Given the description of an element on the screen output the (x, y) to click on. 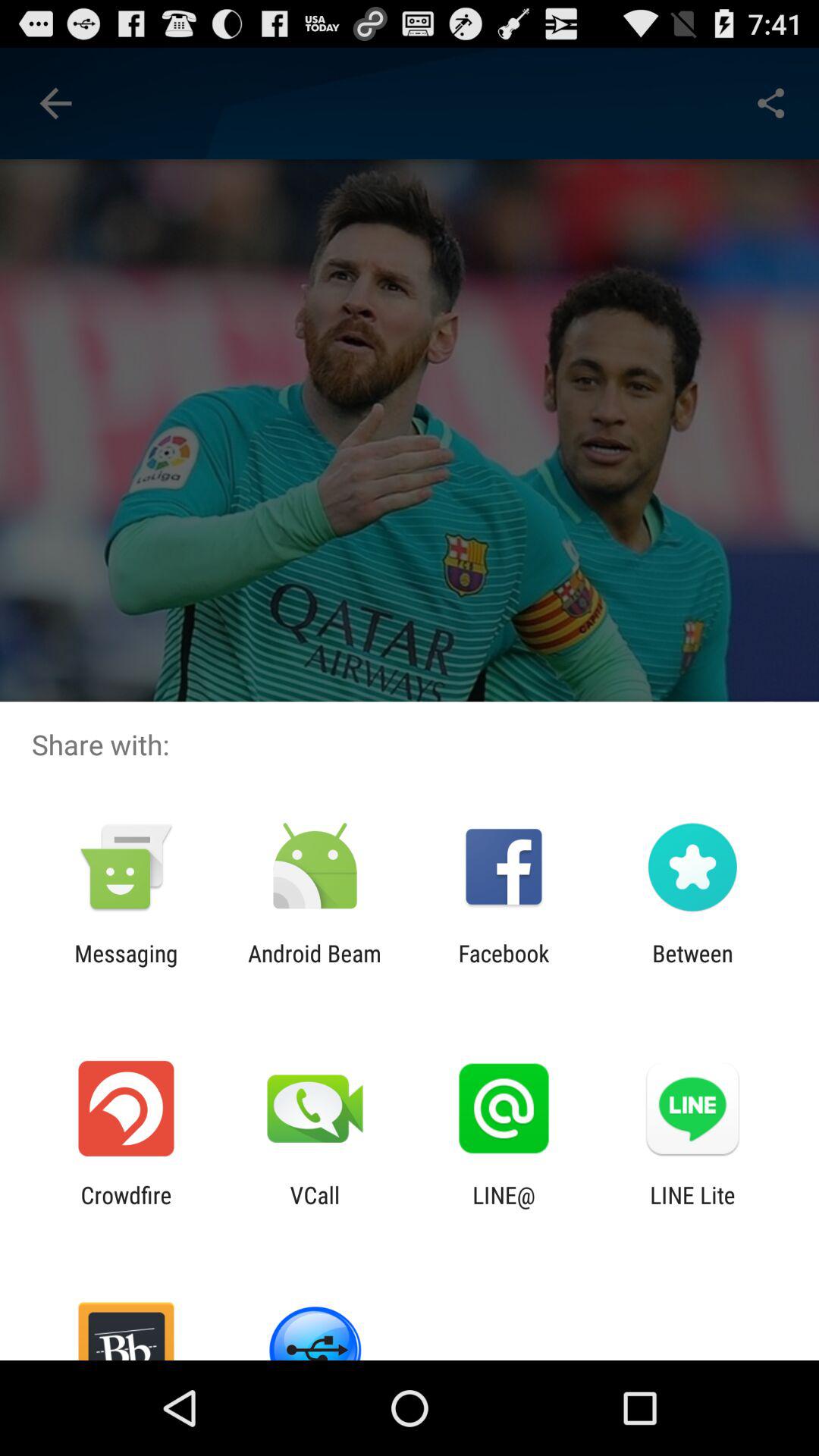
click the icon next to the messaging icon (314, 966)
